Given the description of an element on the screen output the (x, y) to click on. 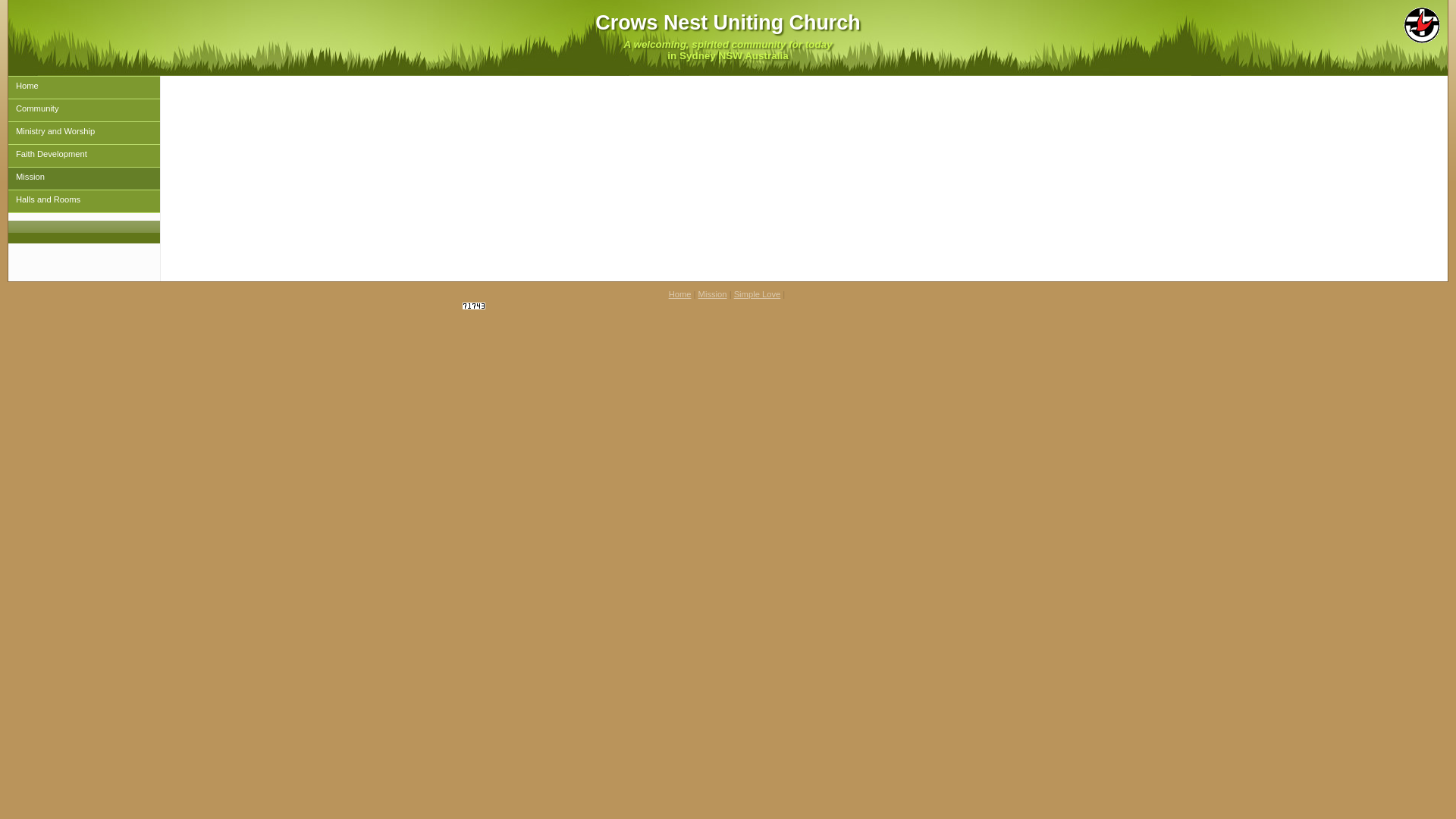
Community Element type: text (84, 110)
Faith Development Element type: text (84, 155)
Halls and Rooms Element type: text (84, 201)
Mission Element type: text (84, 178)
Home Element type: text (84, 87)
Mission Element type: text (712, 293)
Simple Love Element type: text (757, 293)
Ministry and Worship Element type: text (84, 133)
Home Element type: text (679, 293)
